Given the description of an element on the screen output the (x, y) to click on. 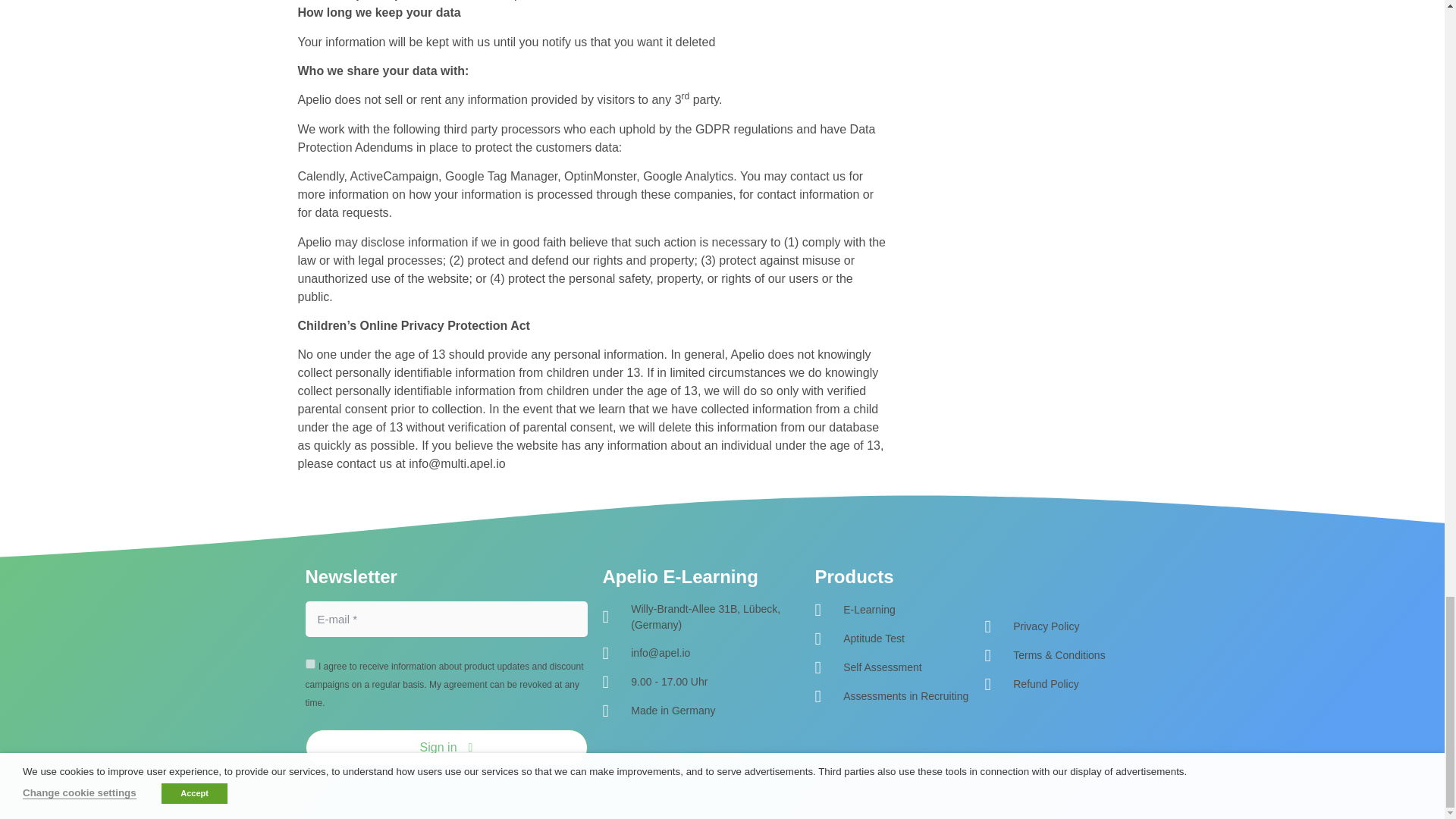
on (309, 664)
